Given the description of an element on the screen output the (x, y) to click on. 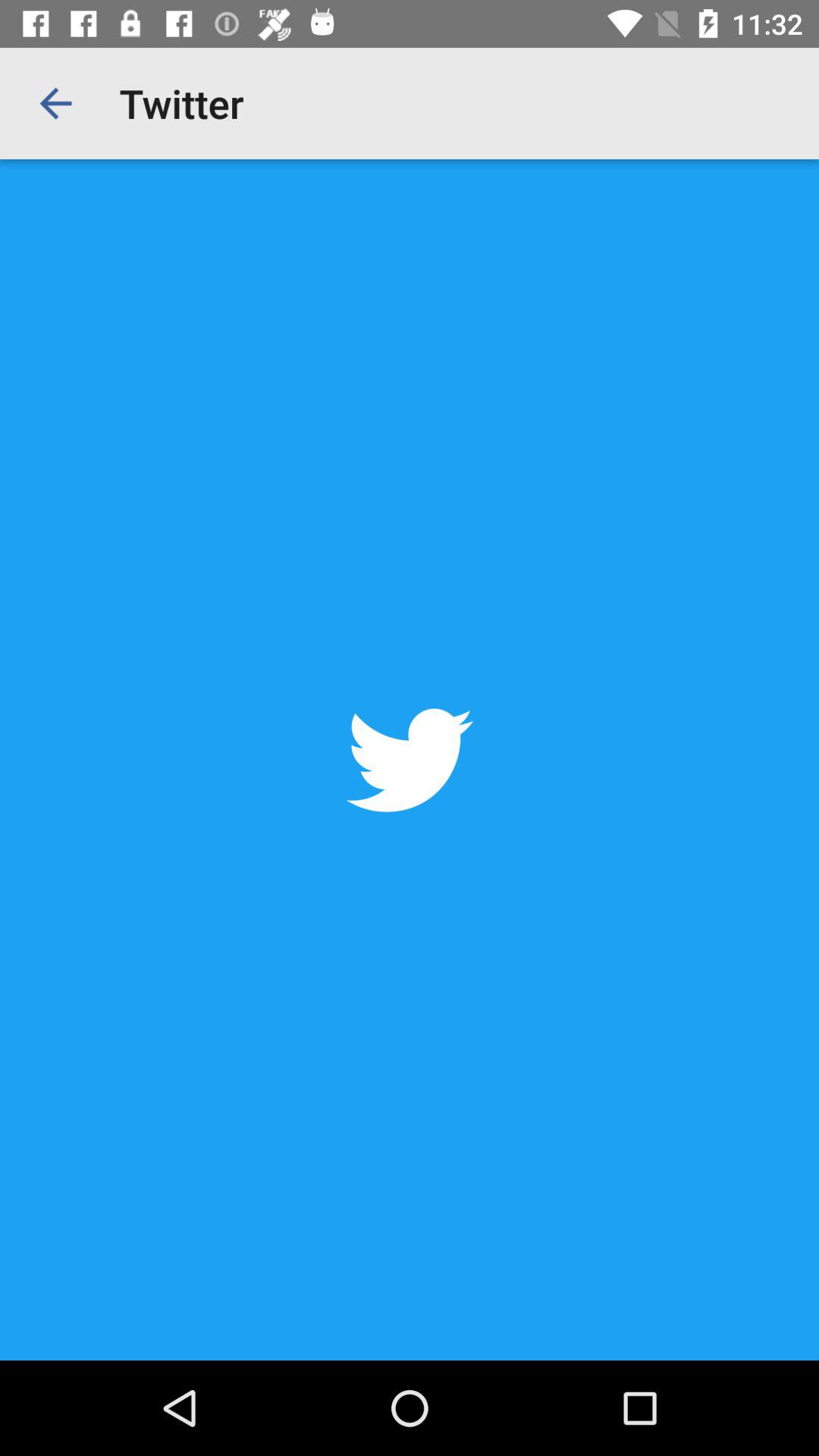
choose the app next to the twitter app (55, 103)
